Given the description of an element on the screen output the (x, y) to click on. 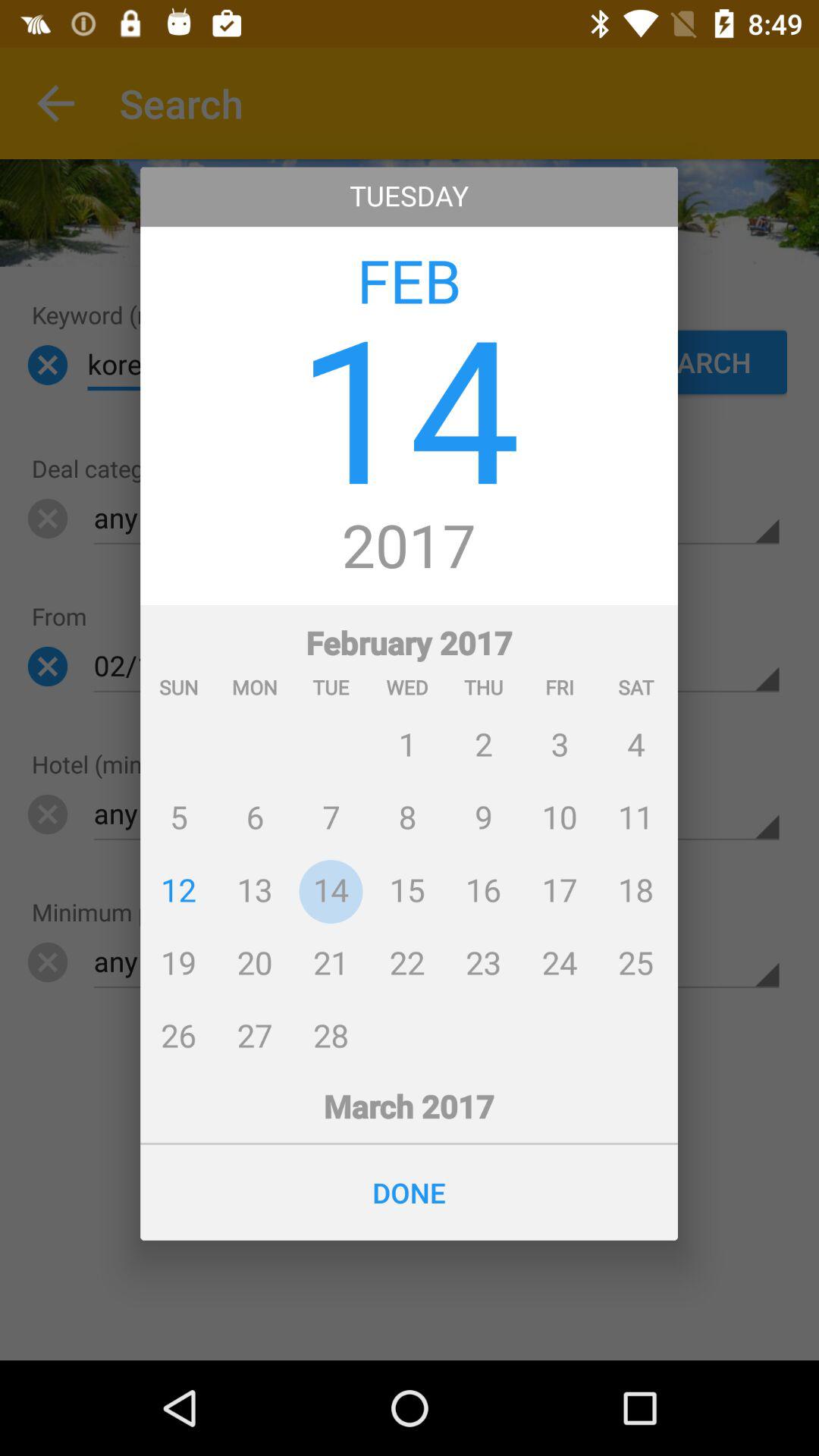
scroll until 2017 icon (408, 547)
